Given the description of an element on the screen output the (x, y) to click on. 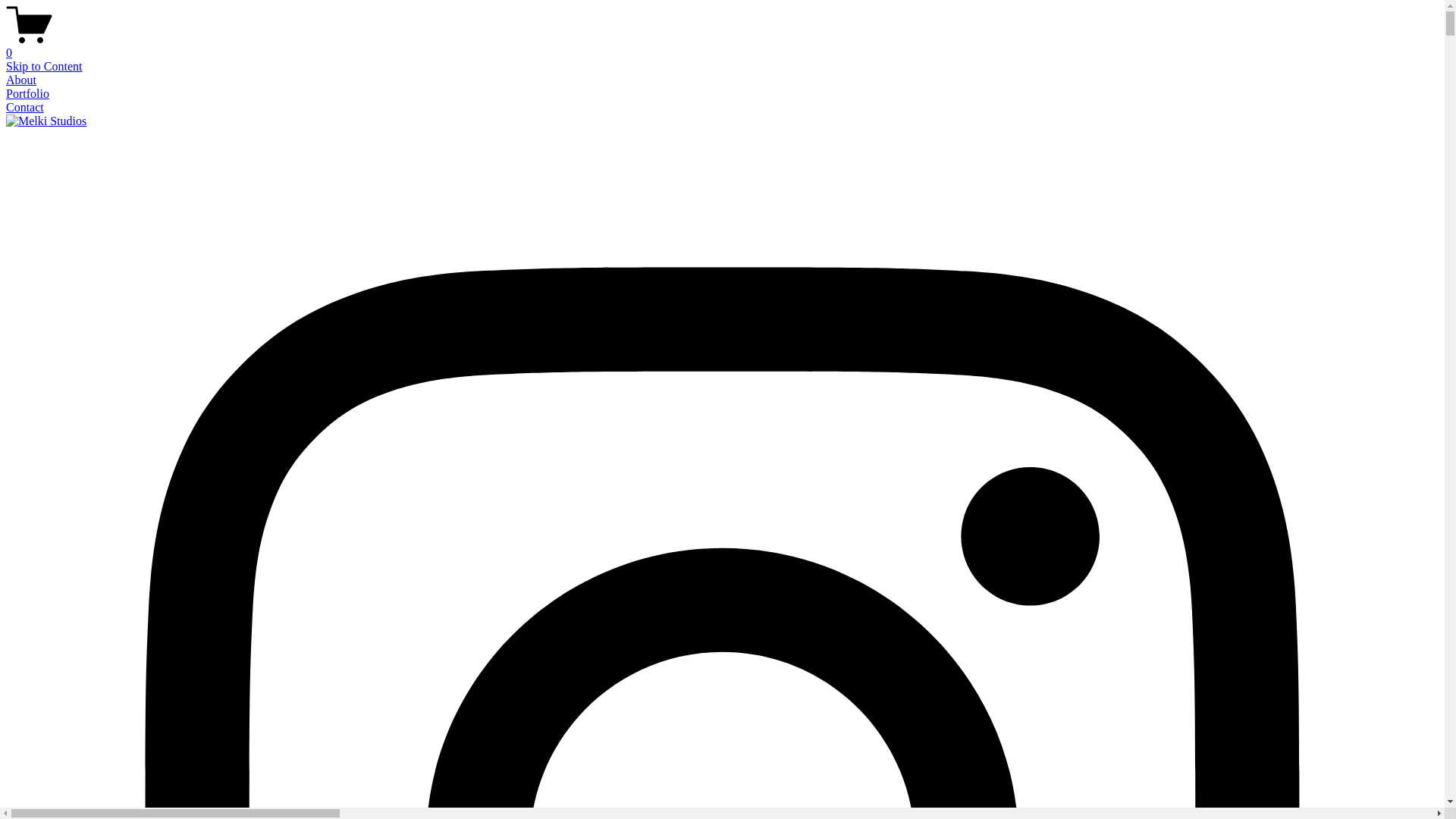
Skip to Content Element type: text (43, 65)
Contact Element type: text (24, 106)
0 Element type: text (722, 45)
Portfolio Element type: text (27, 93)
About Element type: text (21, 79)
